Given the description of an element on the screen output the (x, y) to click on. 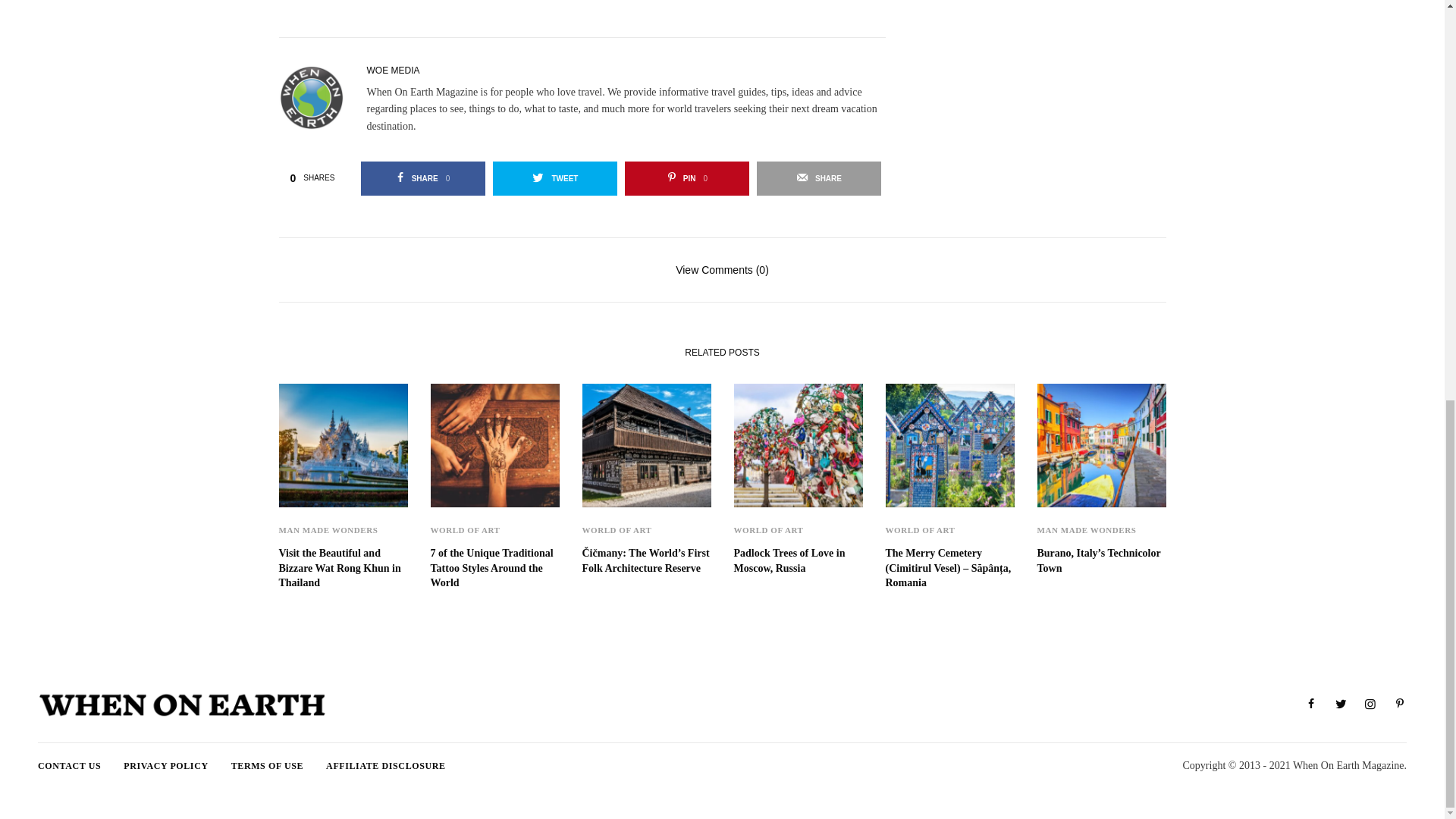
SHARE (818, 178)
TWEET (555, 178)
Padlock Trees of Love in Moscow, Russia (798, 560)
When On Earth (181, 704)
7 of the Unique Traditional Tattoo Styles Around the World (494, 568)
WOE MEDIA (686, 178)
Visit the Beautiful and Bizzare Wat Rong Khun in Thailand (393, 70)
